Given the description of an element on the screen output the (x, y) to click on. 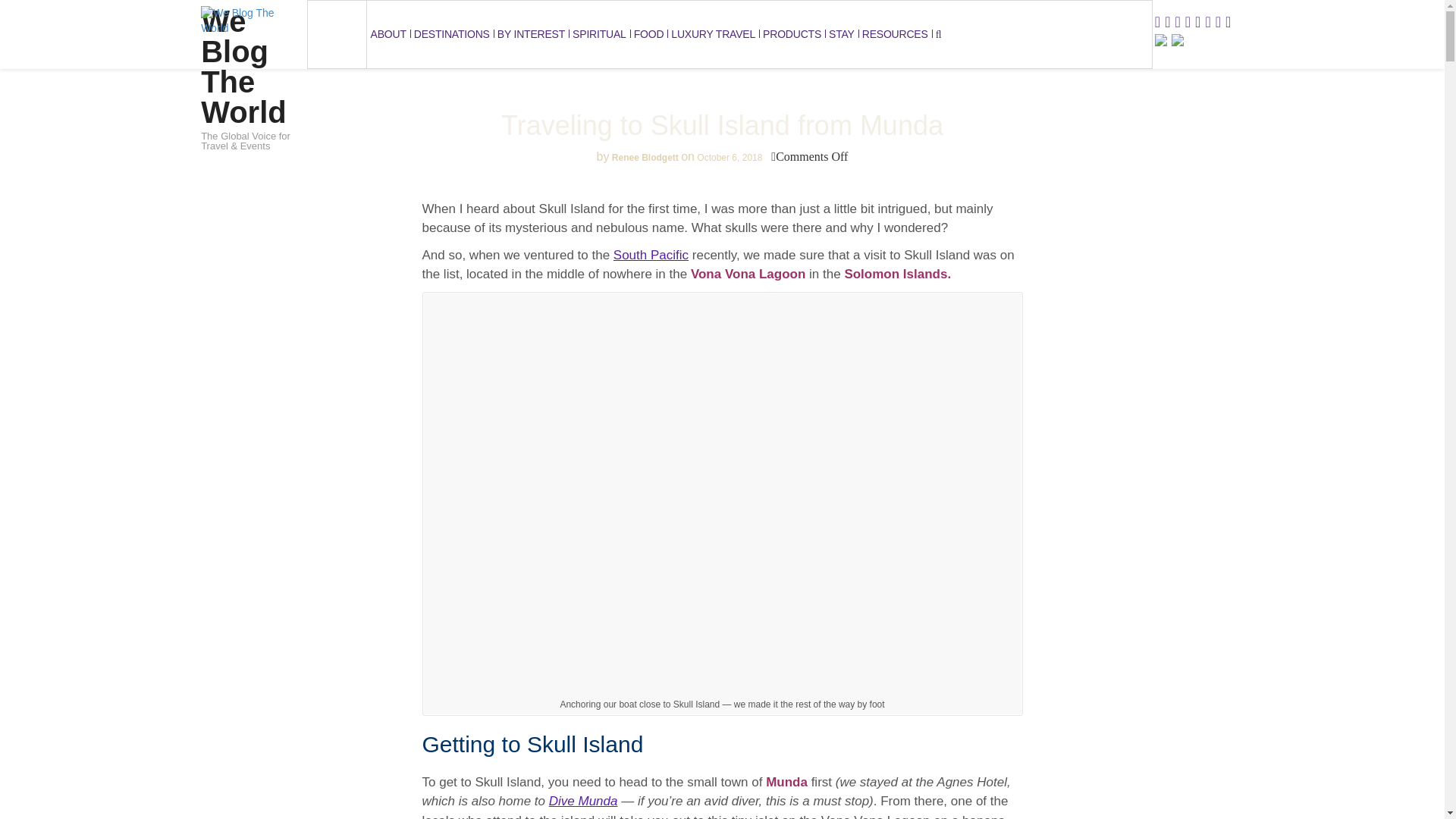
BY INTEREST (531, 33)
Posts by Renee Blodgett (644, 157)
2018-10-06T10:26:41-0700 (729, 157)
DESTINATIONS (452, 33)
